Given the description of an element on the screen output the (x, y) to click on. 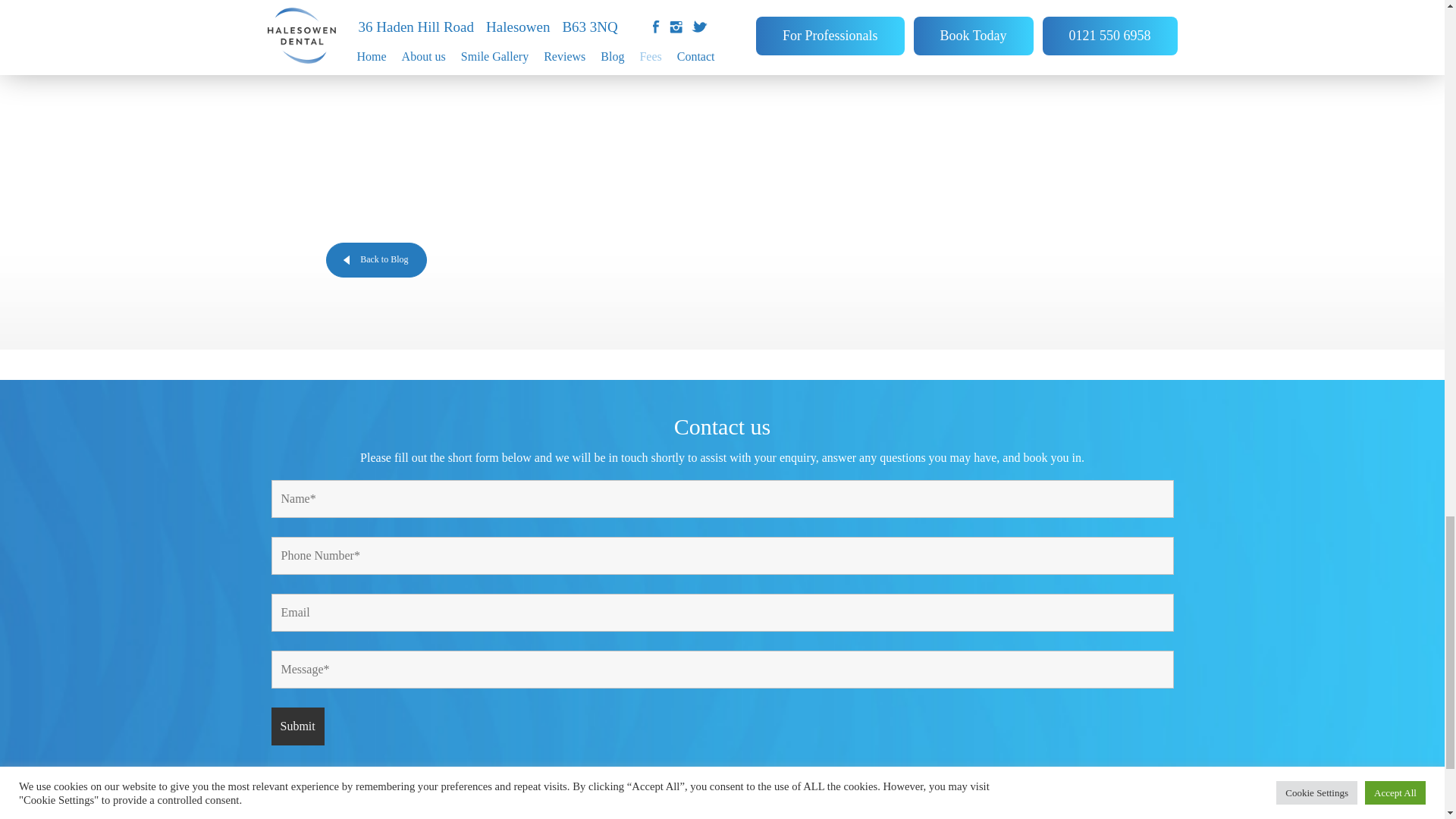
Submit (297, 726)
